Given the description of an element on the screen output the (x, y) to click on. 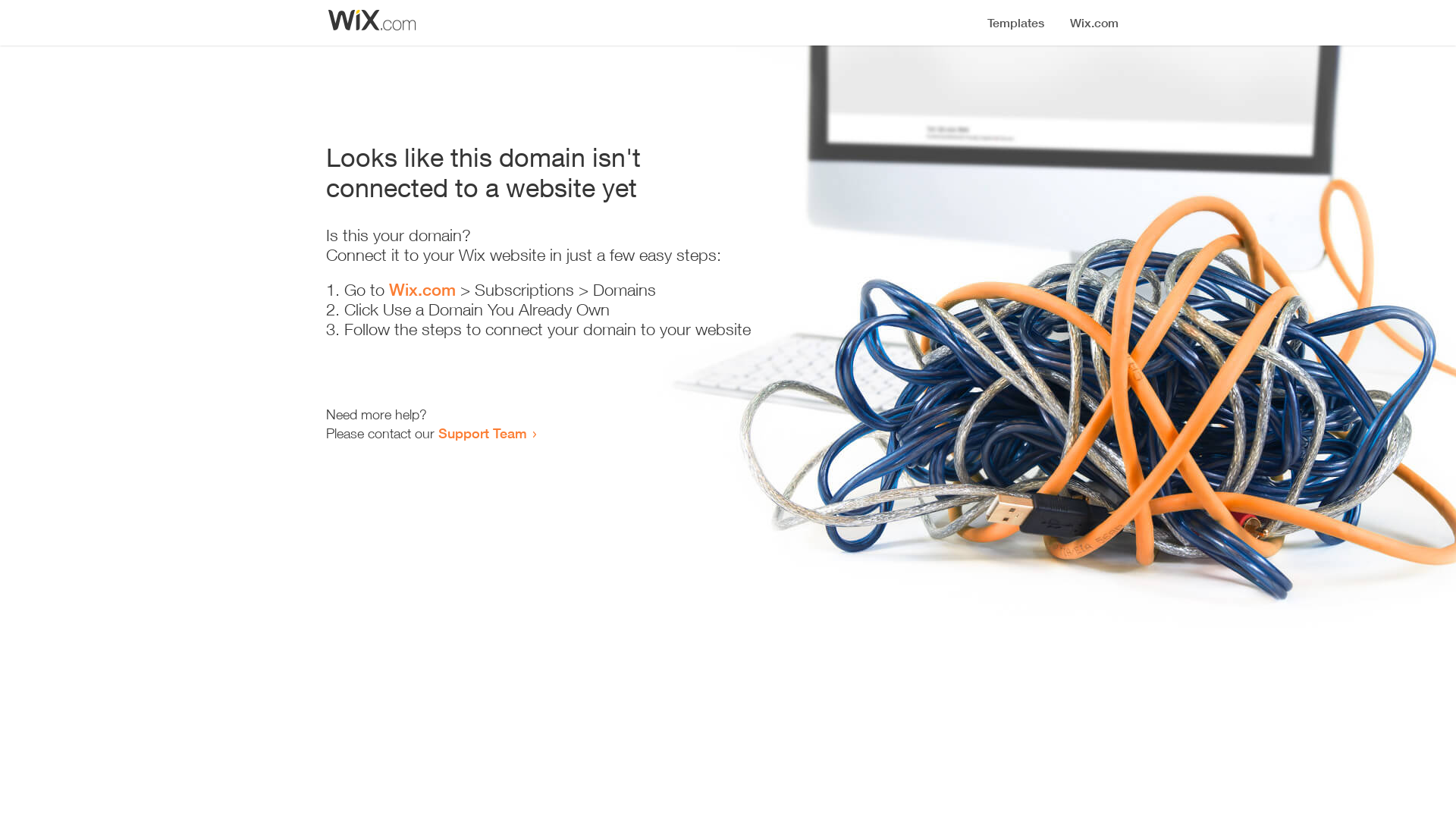
Support Team Element type: text (482, 432)
Wix.com Element type: text (422, 289)
